Given the description of an element on the screen output the (x, y) to click on. 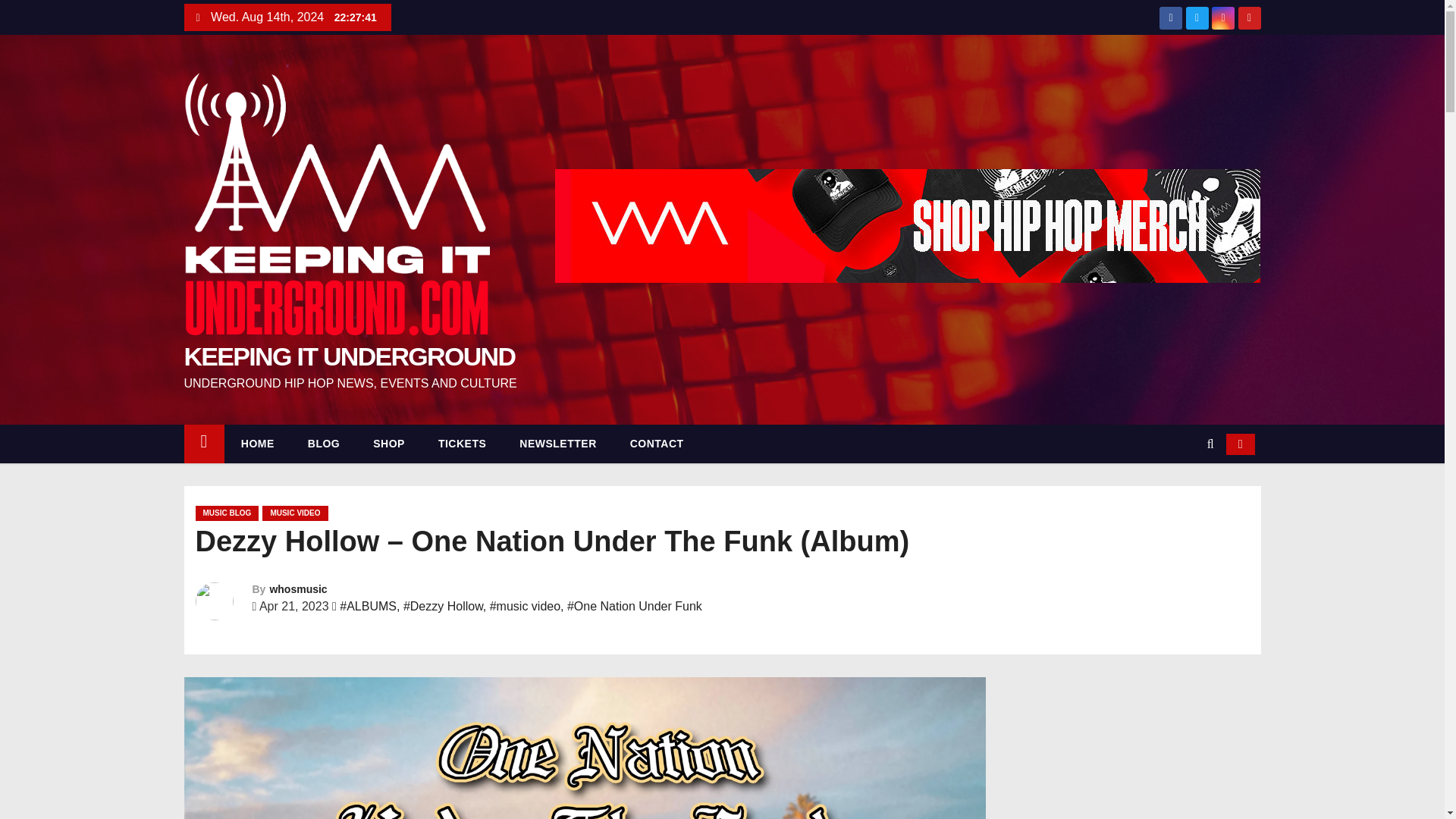
MUSIC BLOG (227, 513)
whosmusic (297, 589)
MUSIC VIDEO (294, 513)
KEEPING IT UNDERGROUND (349, 356)
TICKETS (462, 444)
BLOG (323, 444)
Home (203, 444)
SHOP (389, 444)
CONTACT (656, 444)
HOME (257, 444)
